Given the description of an element on the screen output the (x, y) to click on. 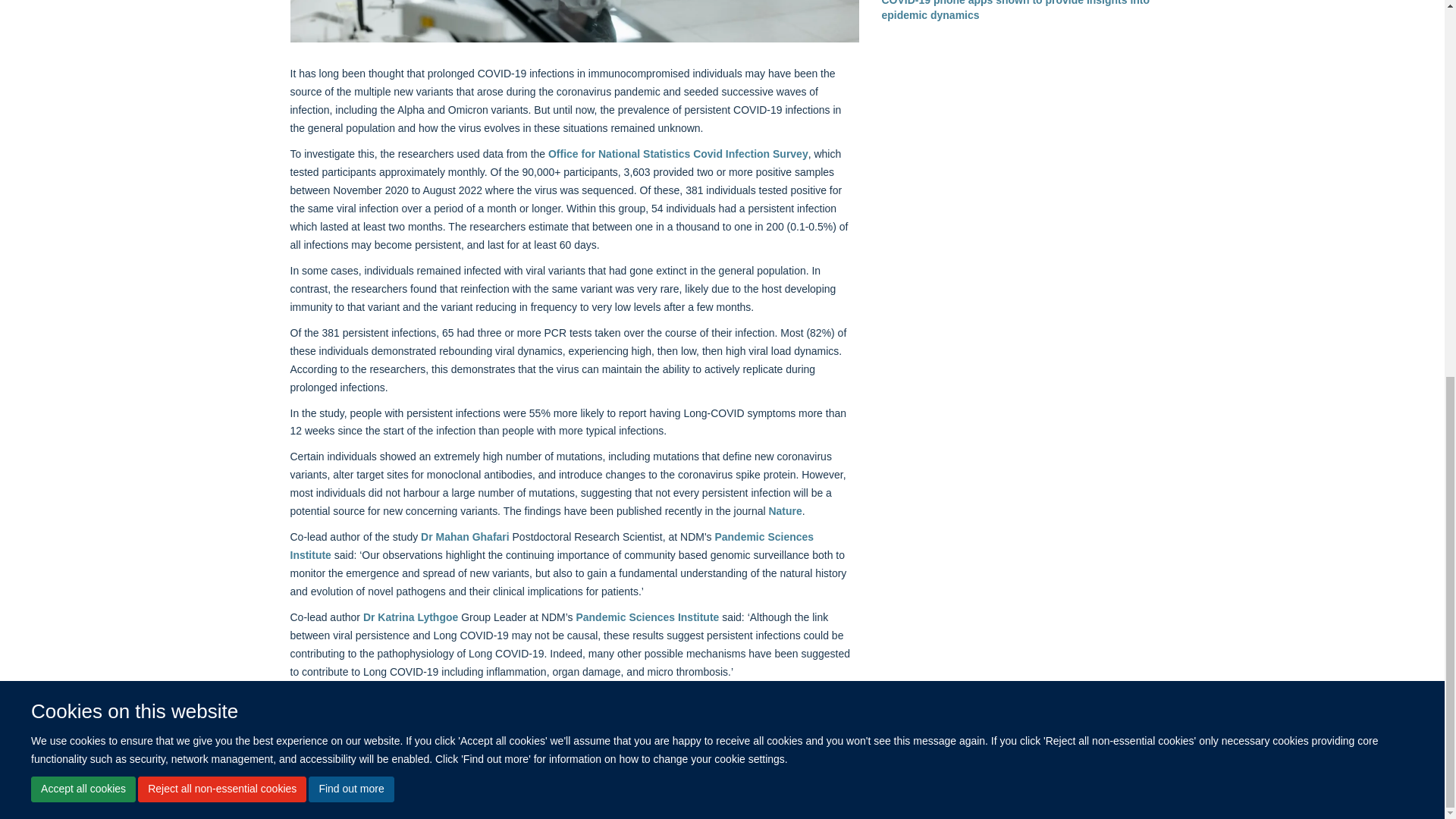
Reject all non-essential cookies (221, 94)
Accept all cookies (82, 94)
Find out more (350, 94)
